Given the description of an element on the screen output the (x, y) to click on. 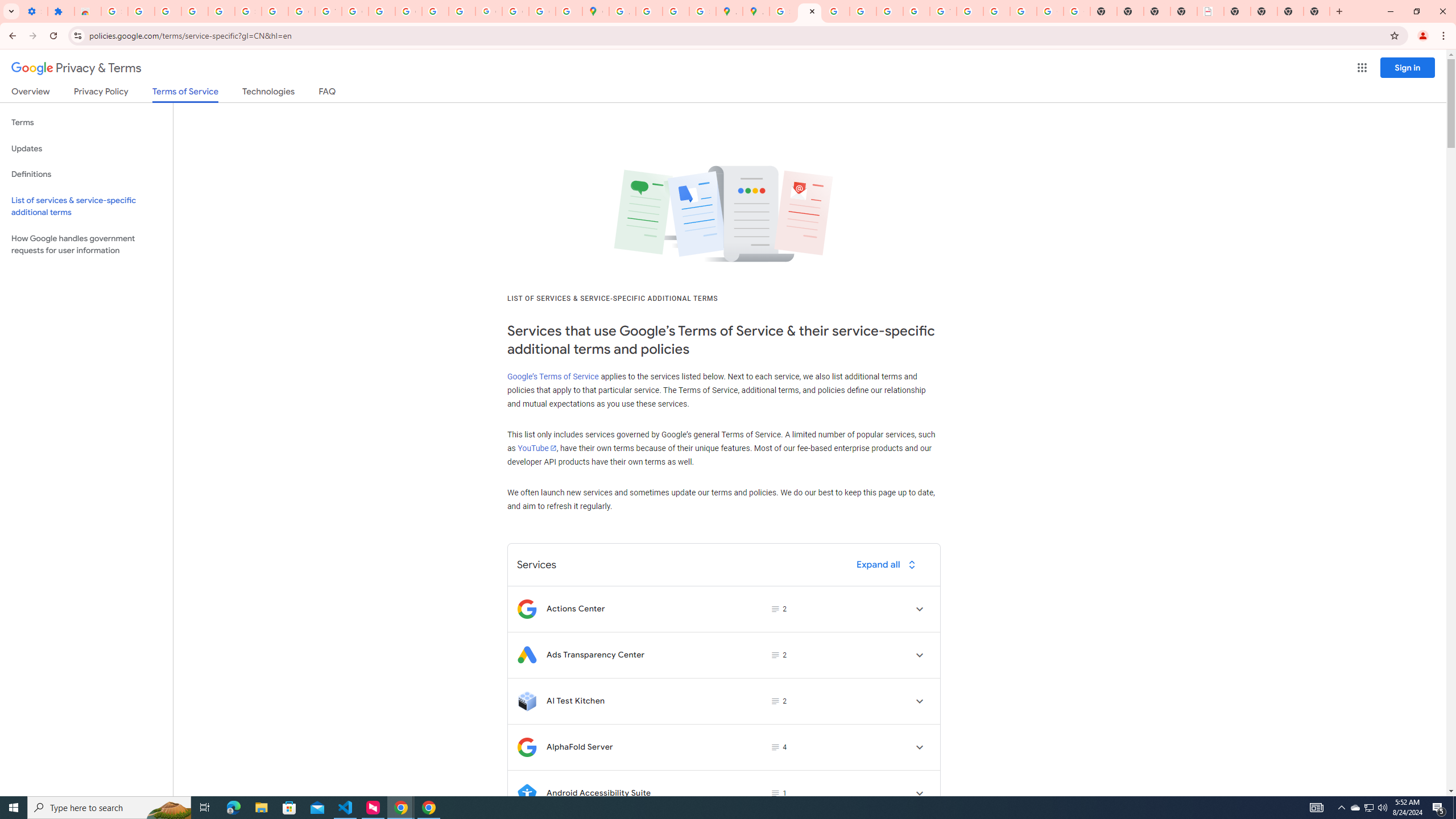
Expand all (888, 564)
YouTube (943, 11)
Reviews: Helix Fruit Jump Arcade Game (87, 11)
YouTube (328, 11)
Logo for AlphaFold Server (526, 746)
